Given the description of an element on the screen output the (x, y) to click on. 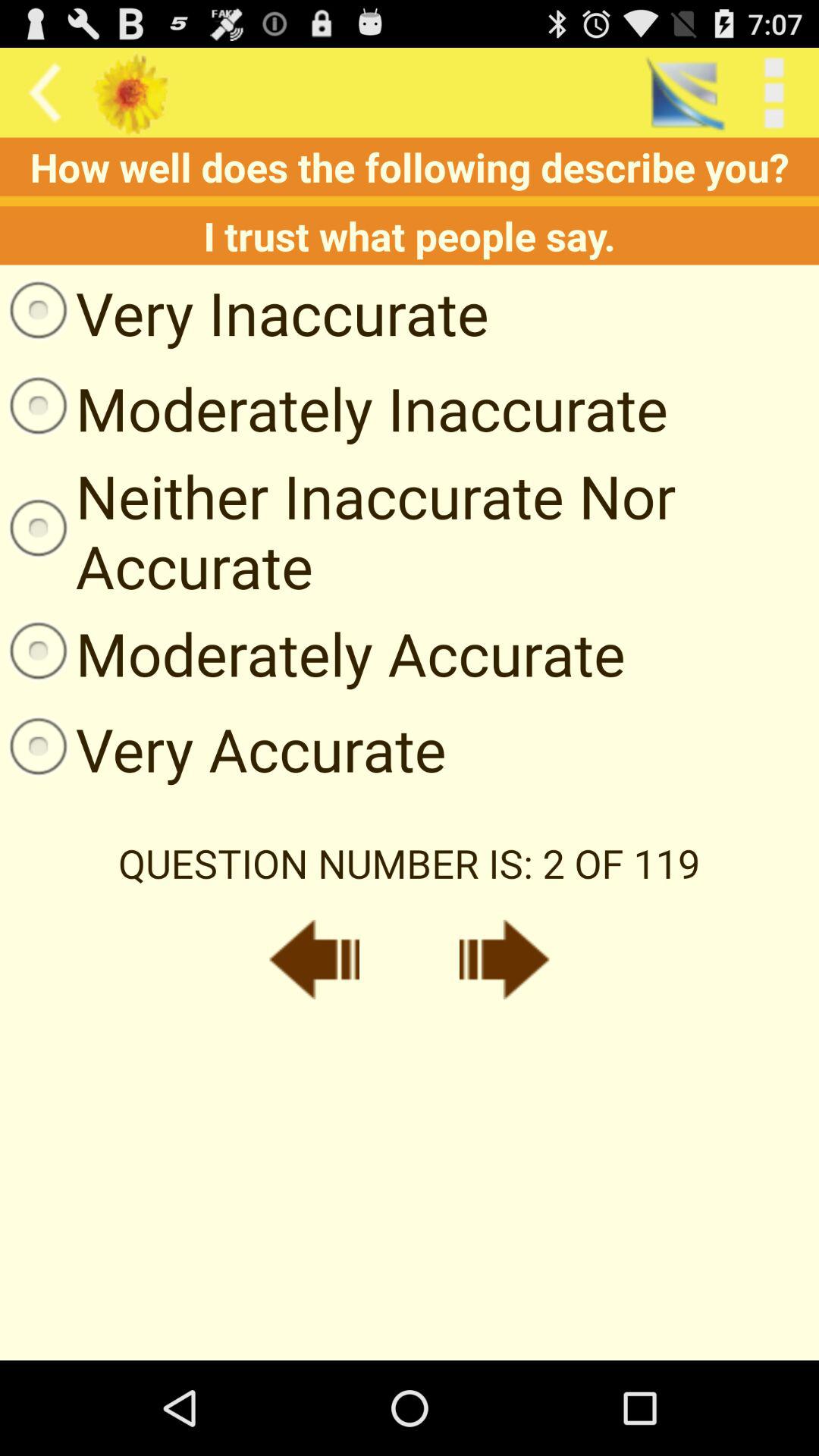
press item below the i trust what (244, 312)
